Given the description of an element on the screen output the (x, y) to click on. 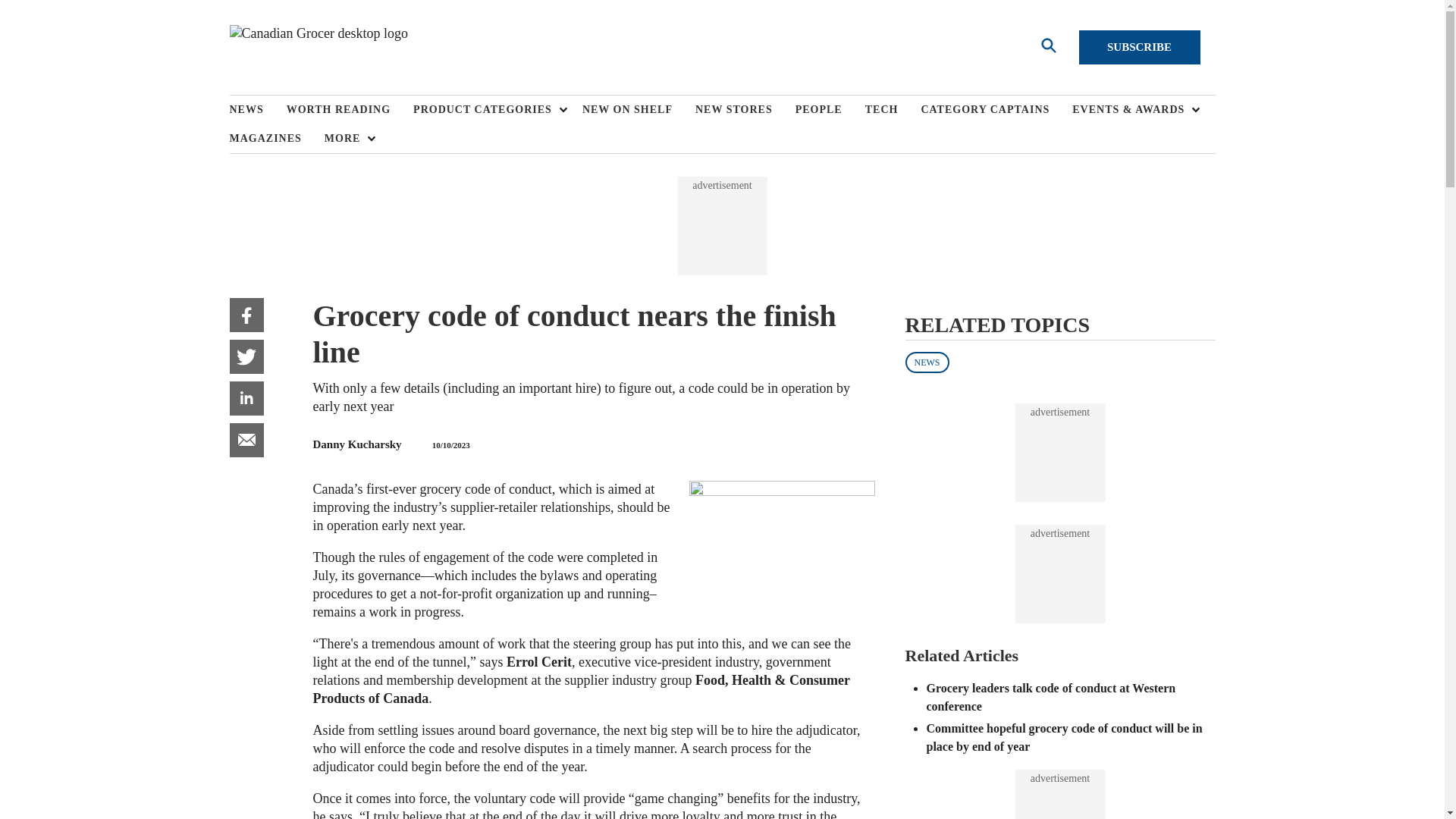
facebook (245, 315)
NEWS (256, 109)
PRODUCT CATEGORIES (486, 109)
MAGAZINES (275, 138)
SUBSCRIBE (1138, 47)
WORTH READING (349, 109)
email (245, 440)
TECH (892, 109)
PEOPLE (829, 109)
twitter (245, 356)
